Given the description of an element on the screen output the (x, y) to click on. 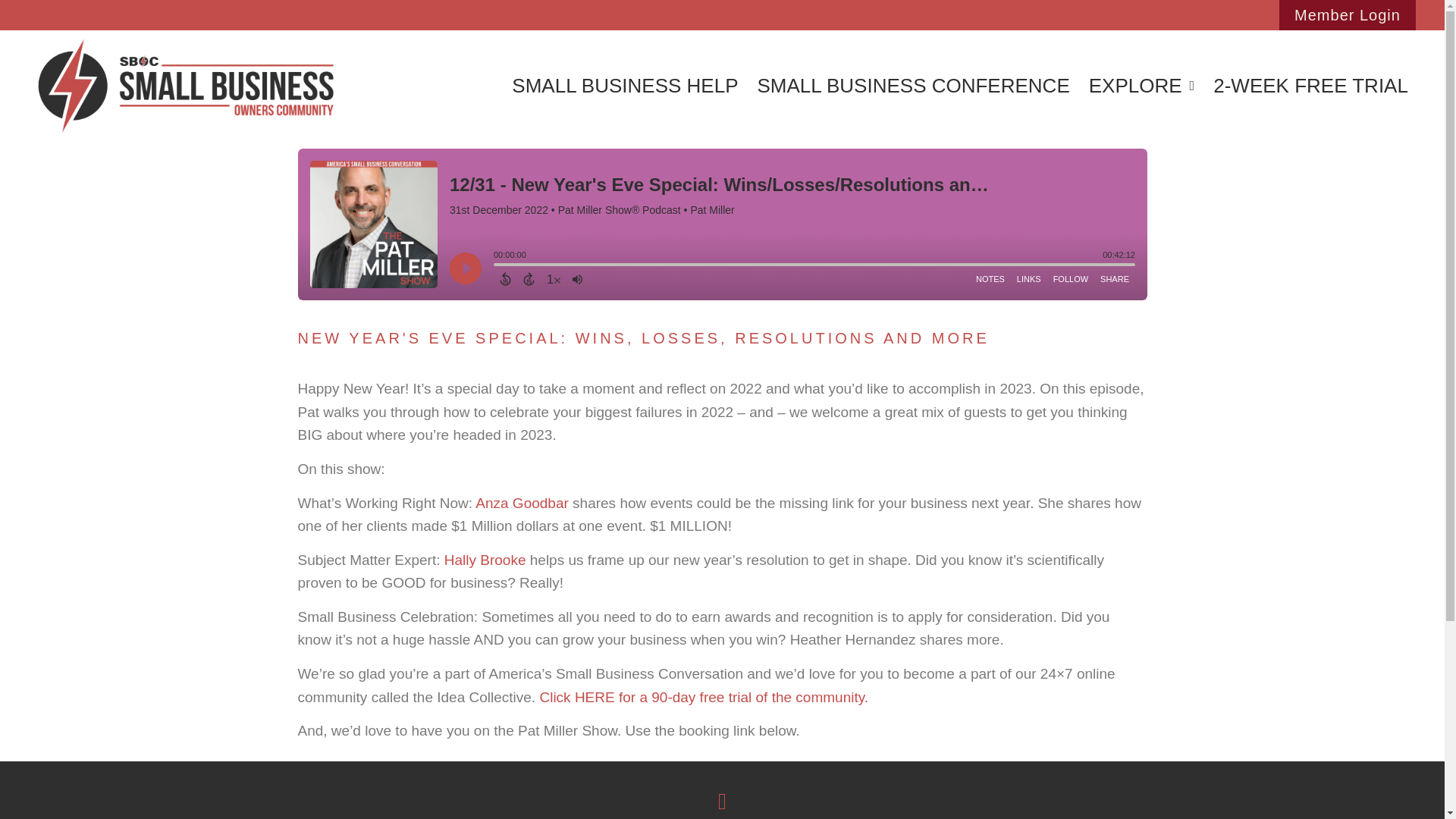
SMALL BUSINESS CONFERENCE (912, 85)
EXPLORE (1141, 85)
Click HERE for a 90-day free trial of the community. (702, 697)
Member Login (1347, 15)
Anza Goodbar (522, 503)
2-WEEK FREE TRIAL (1309, 85)
Hally Brooke (484, 560)
SMALL BUSINESS HELP (625, 85)
